Given the description of an element on the screen output the (x, y) to click on. 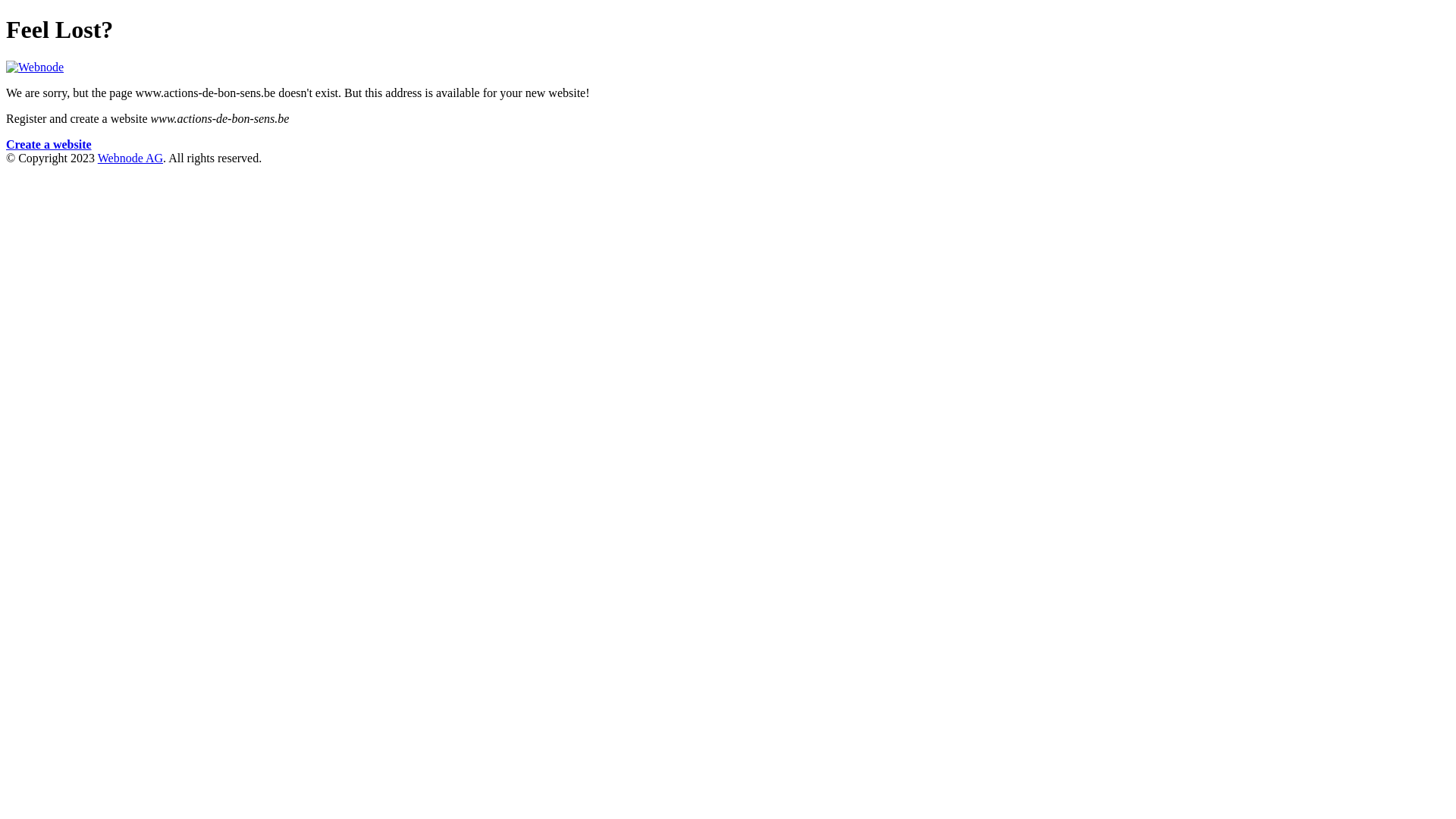
Create a website Element type: text (48, 144)
Webnode AG Element type: text (130, 157)
